Given the description of an element on the screen output the (x, y) to click on. 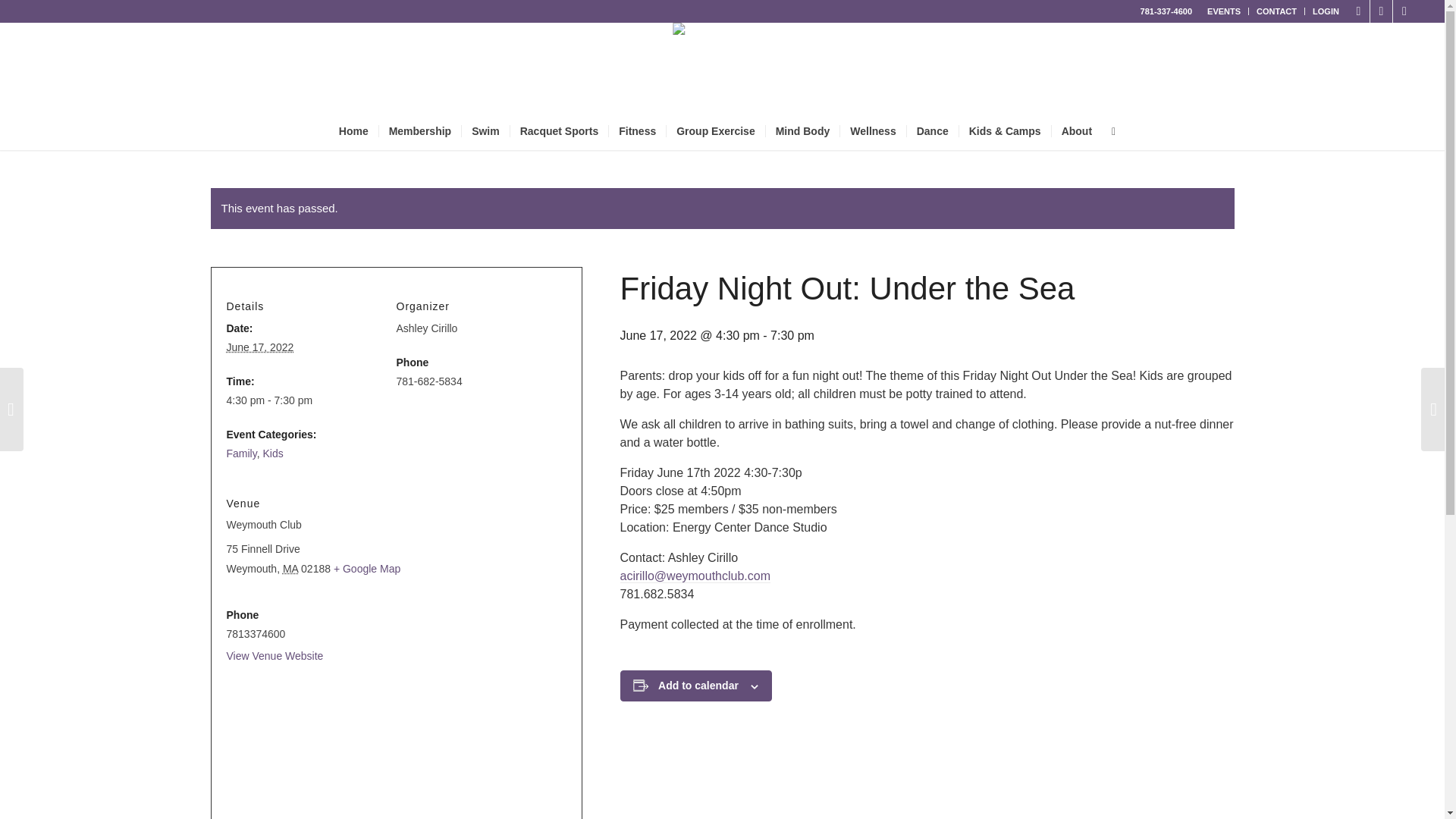
Group Exercise (715, 130)
LOGIN (1326, 11)
Facebook (1359, 11)
781-337-4600 (1166, 10)
2022-06-17 (303, 400)
Instagram (1380, 11)
Membership (419, 130)
CONTACT (1276, 11)
Youtube (1404, 11)
Swim (485, 130)
EVENTS (1223, 11)
Racquet Sports (558, 130)
Fitness (636, 130)
2022-06-17 (259, 346)
Home (353, 130)
